Given the description of an element on the screen output the (x, y) to click on. 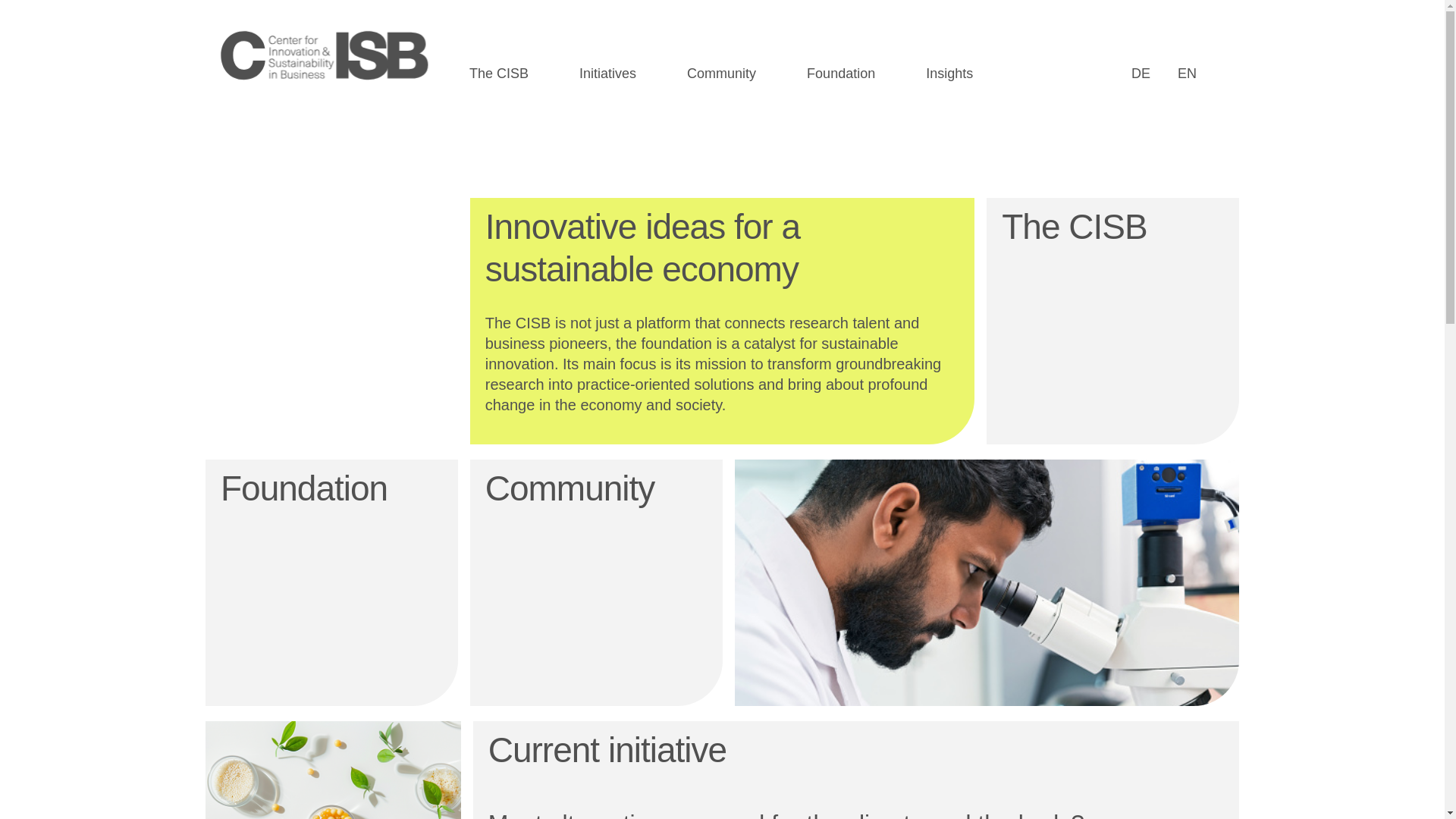
Foundation (331, 582)
Foundation (855, 65)
Community (736, 65)
Community (596, 582)
The CISB (1113, 321)
DE (1140, 73)
Insights (964, 65)
The CISB (513, 65)
Initiatives (622, 65)
EN (1186, 73)
